Given the description of an element on the screen output the (x, y) to click on. 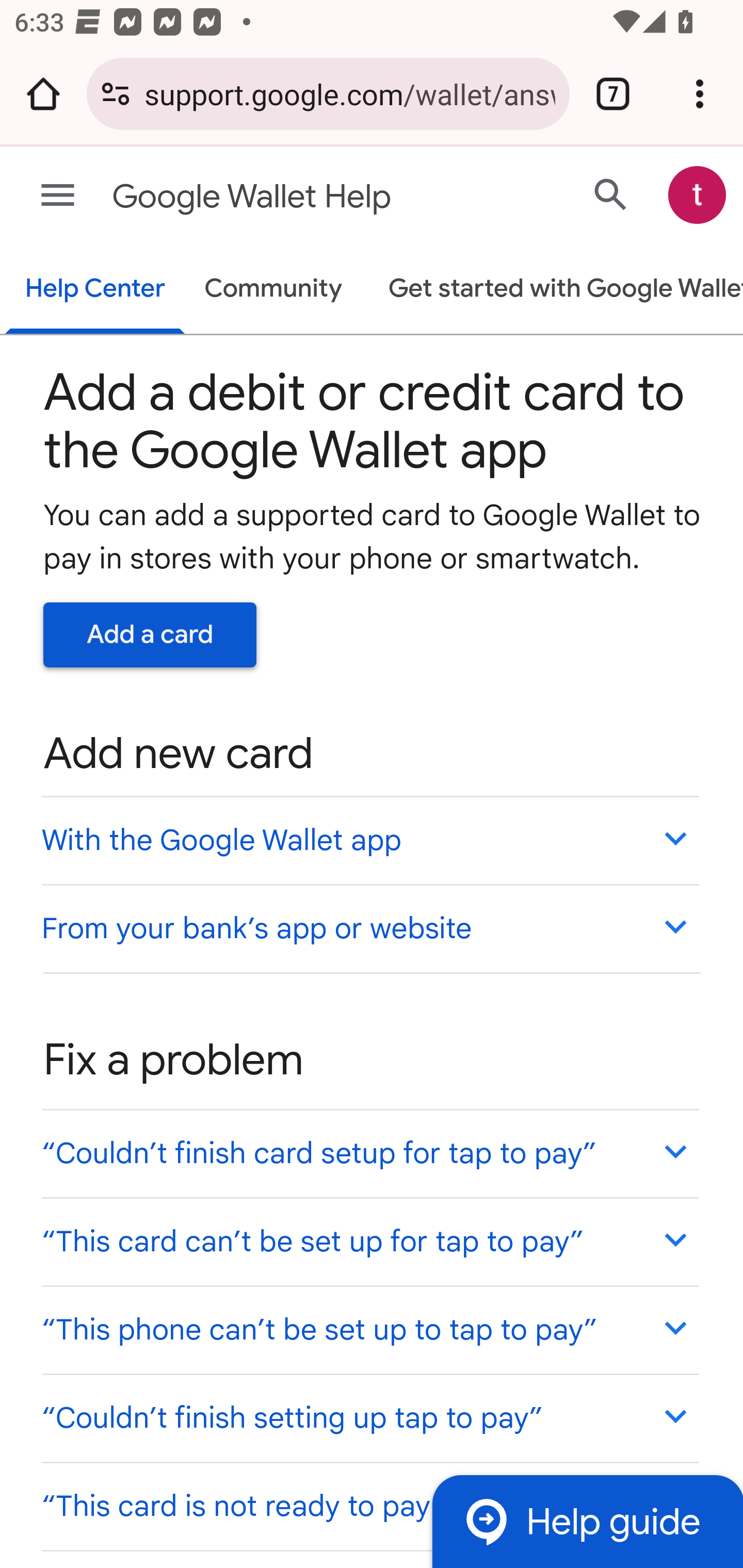
Open the home page (43, 93)
Connection is secure (115, 93)
Switch or close tabs (612, 93)
Customize and control Google Chrome (699, 93)
Main menu (58, 195)
Google Wallet Help (292, 197)
Search Help Center (611, 194)
Help Center (94, 289)
Community (273, 289)
Get started with Google Wallet (555, 289)
Add a card (150, 633)
With the Google Wallet app (369, 839)
From your bank’s app or website (369, 927)
“Couldn’t finish card setup for tap to pay” (369, 1152)
“This card can’t be set up for tap to pay” (369, 1240)
“This phone can’t be set up to tap to pay” (369, 1329)
“Couldn’t finish setting up tap to pay” (369, 1417)
“This card is not ready to pay online” (369, 1504)
Help guide (587, 1520)
